Given the description of an element on the screen output the (x, y) to click on. 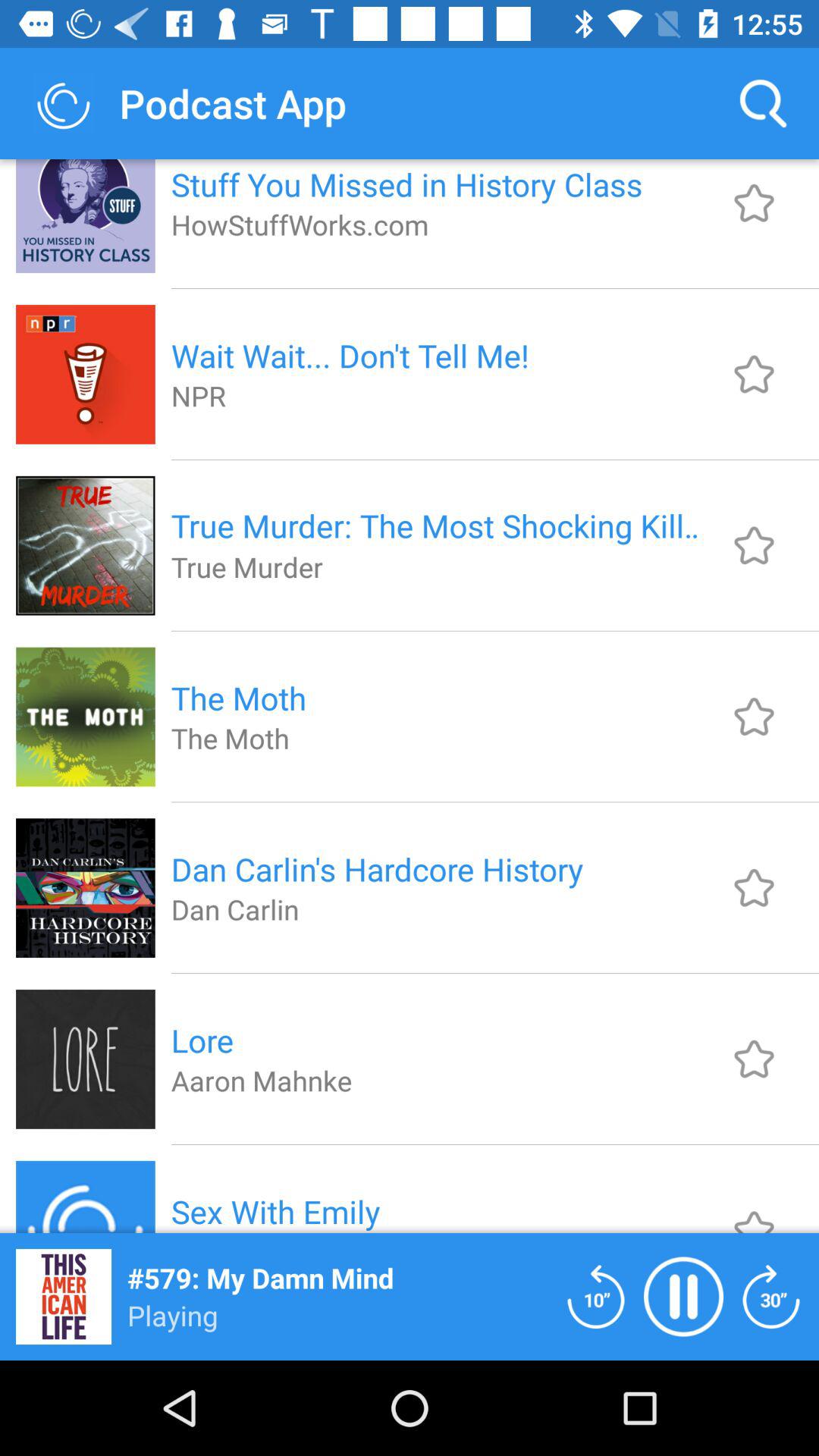
favorite podcast (754, 716)
